Given the description of an element on the screen output the (x, y) to click on. 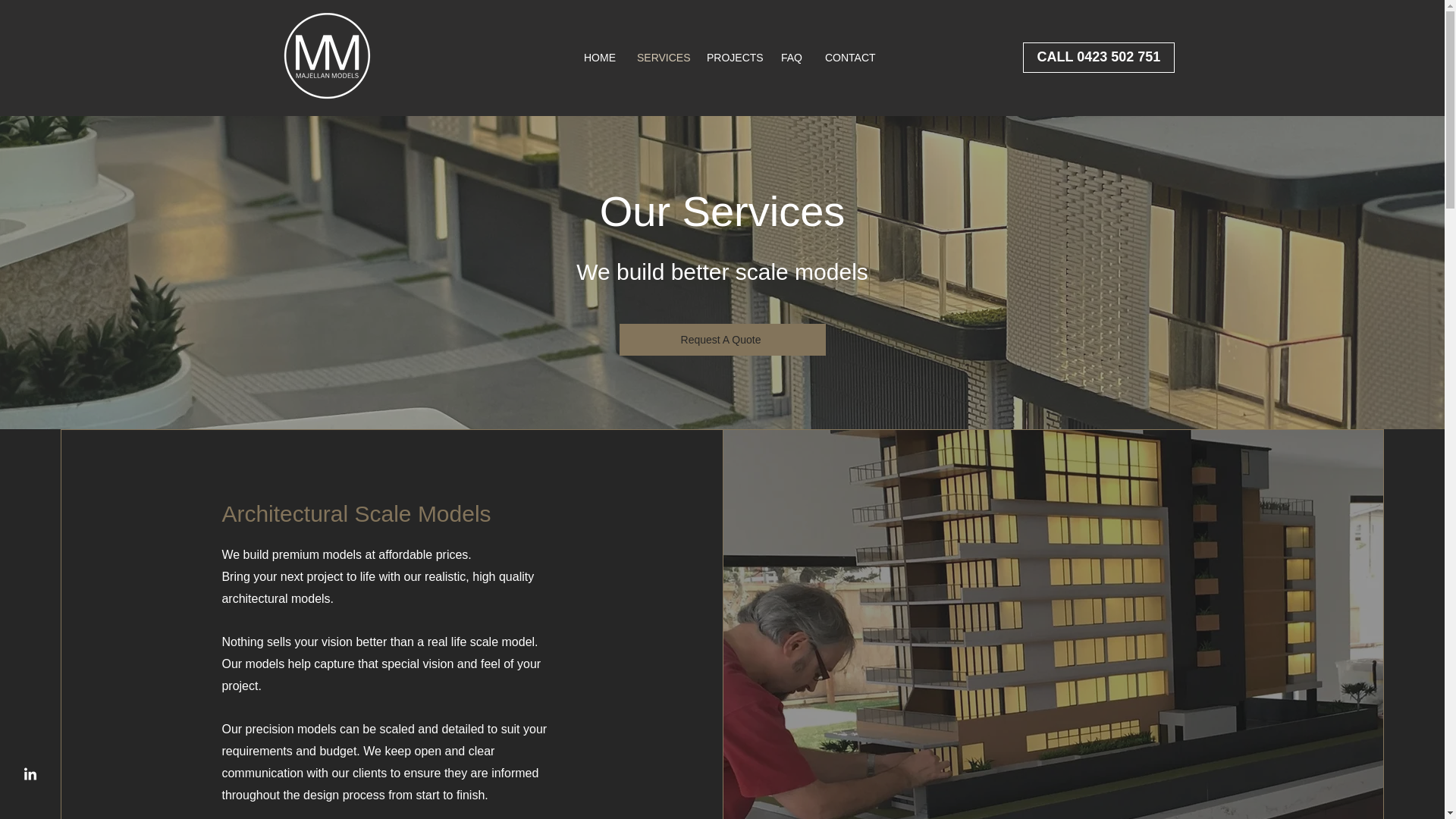
FAQ (791, 57)
PROJECTS (732, 57)
Request A Quote (721, 339)
CALL 0423 502 751 (1098, 57)
SERVICES (660, 57)
CONTACT (849, 57)
HOME (599, 57)
